Given the description of an element on the screen output the (x, y) to click on. 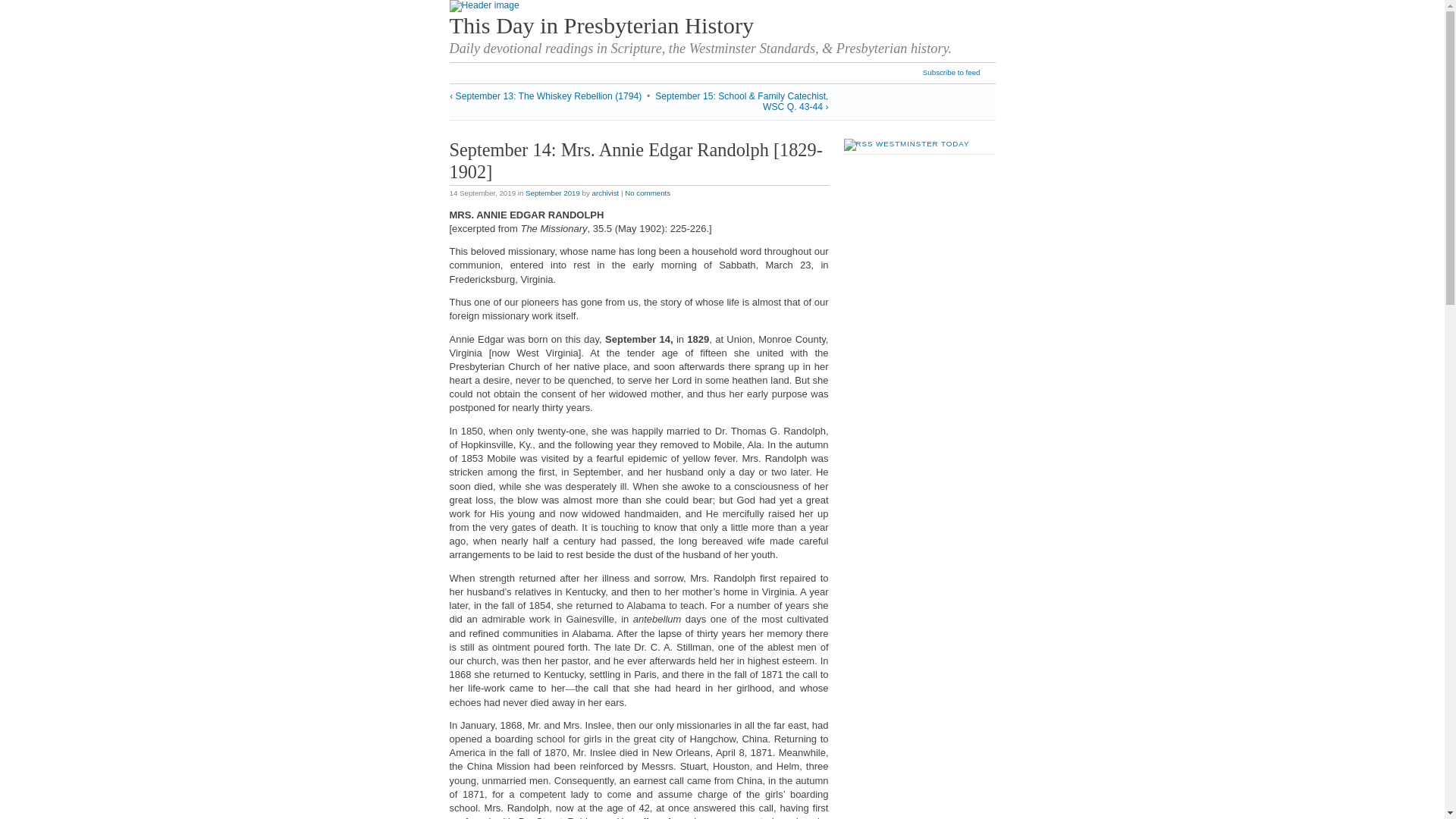
No comments (646, 193)
archivist (606, 193)
September 2019 (552, 193)
Return to main page (601, 25)
This Day in Presbyterian History (601, 25)
Return to main page (483, 5)
Articles by archivist (606, 193)
WESTMINSTER TODAY (922, 143)
Subscribe to feed (959, 72)
